Given the description of an element on the screen output the (x, y) to click on. 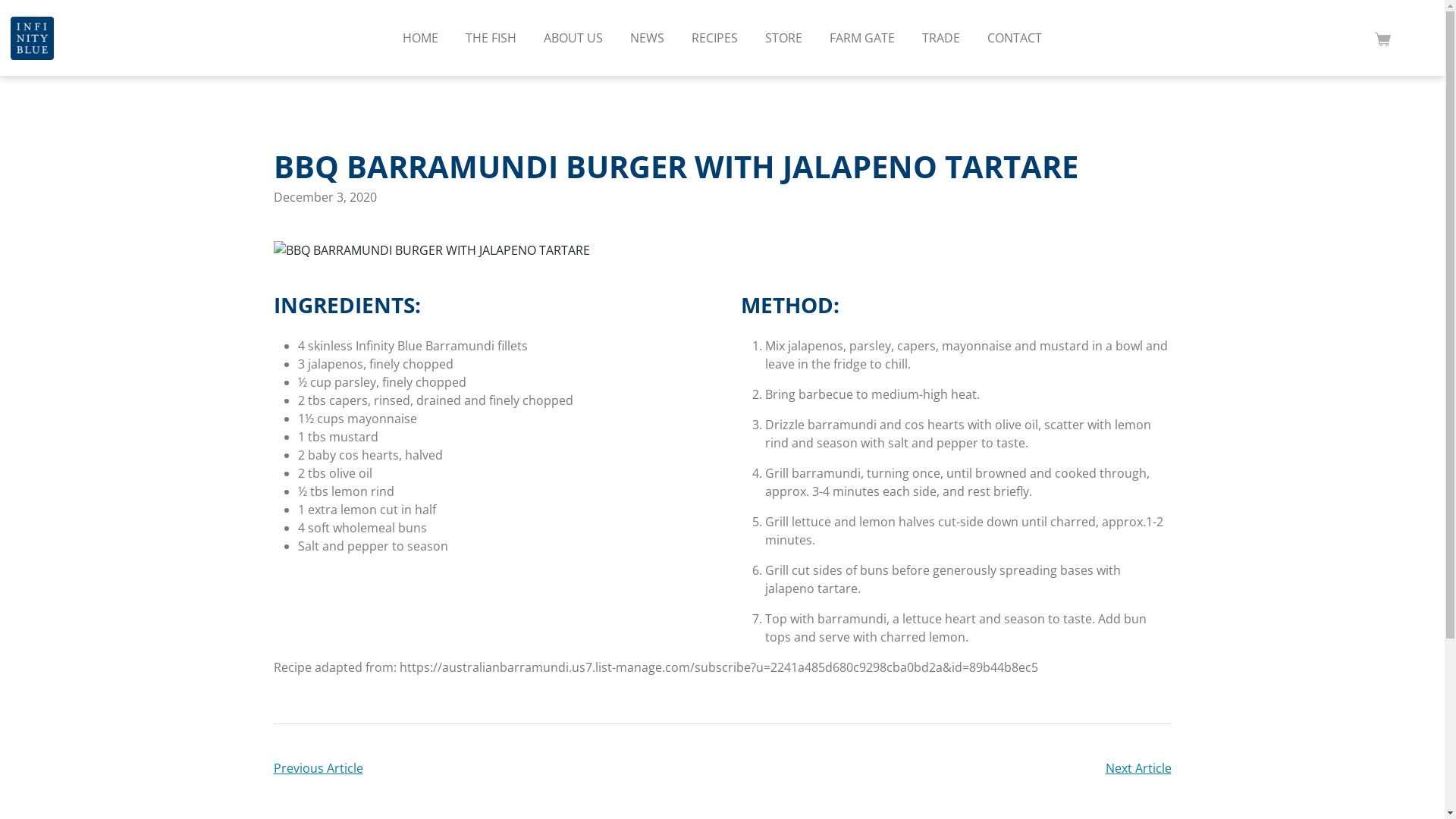
CONTACT Element type: text (1014, 37)
FARM GATE Element type: text (861, 37)
TRADE Element type: text (941, 37)
Next Article Element type: text (1138, 767)
THE FISH Element type: text (490, 37)
ABOUT US Element type: text (573, 37)
HOME Element type: text (420, 37)
NEWS Element type: text (647, 37)
Previous Article Element type: text (317, 767)
STORE Element type: text (783, 37)
RECIPES Element type: text (714, 37)
